Given the description of an element on the screen output the (x, y) to click on. 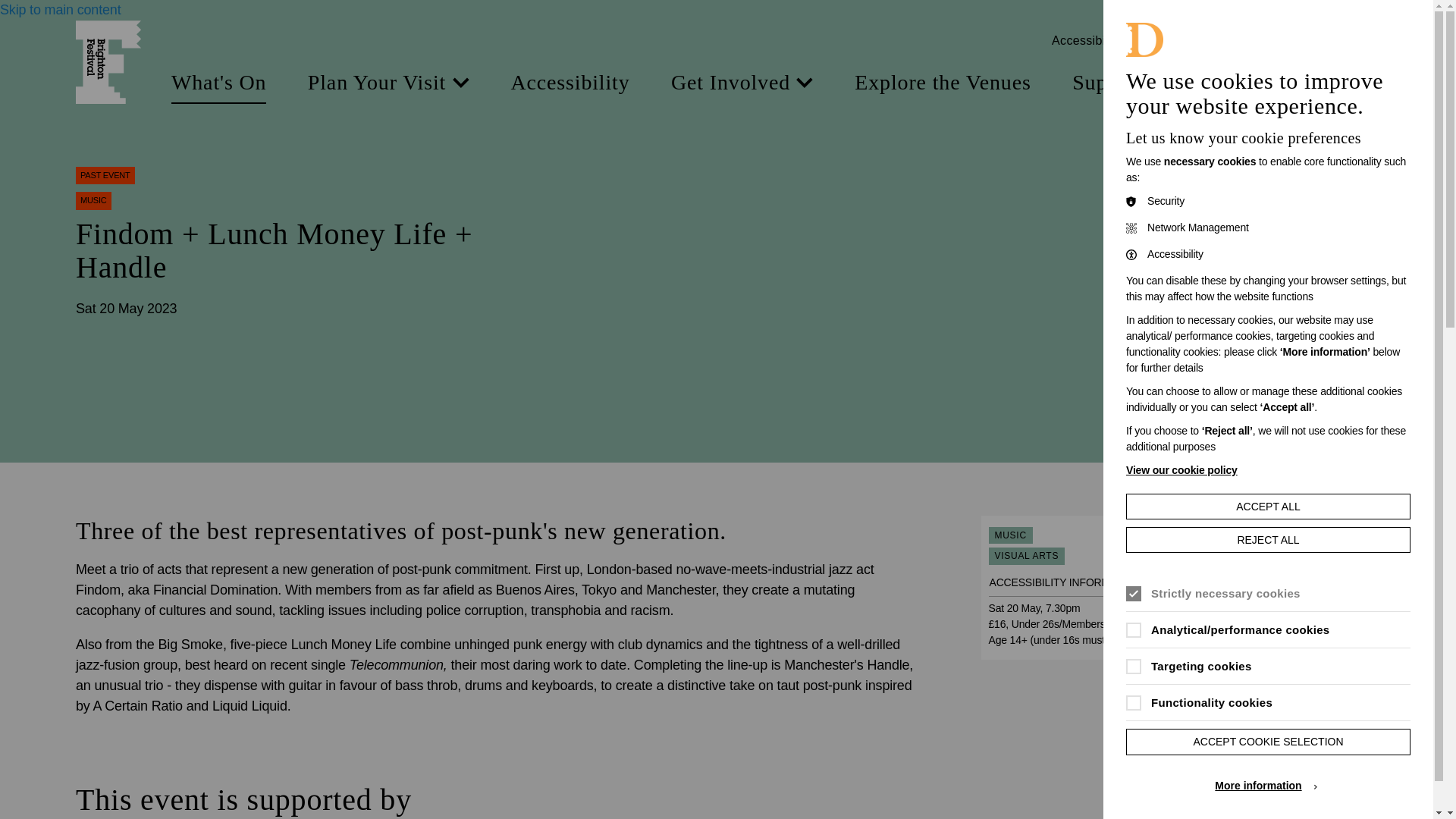
ACCESSIBILITY INFORMATION (1075, 582)
Skip to main content (60, 9)
Search (1335, 40)
Accessibility (569, 83)
Explore the Venues (942, 83)
Explore the Venues (942, 83)
Festival News (1304, 83)
Accessibility (1099, 40)
What's On (218, 83)
Skip to main content (60, 9)
